Given the description of an element on the screen output the (x, y) to click on. 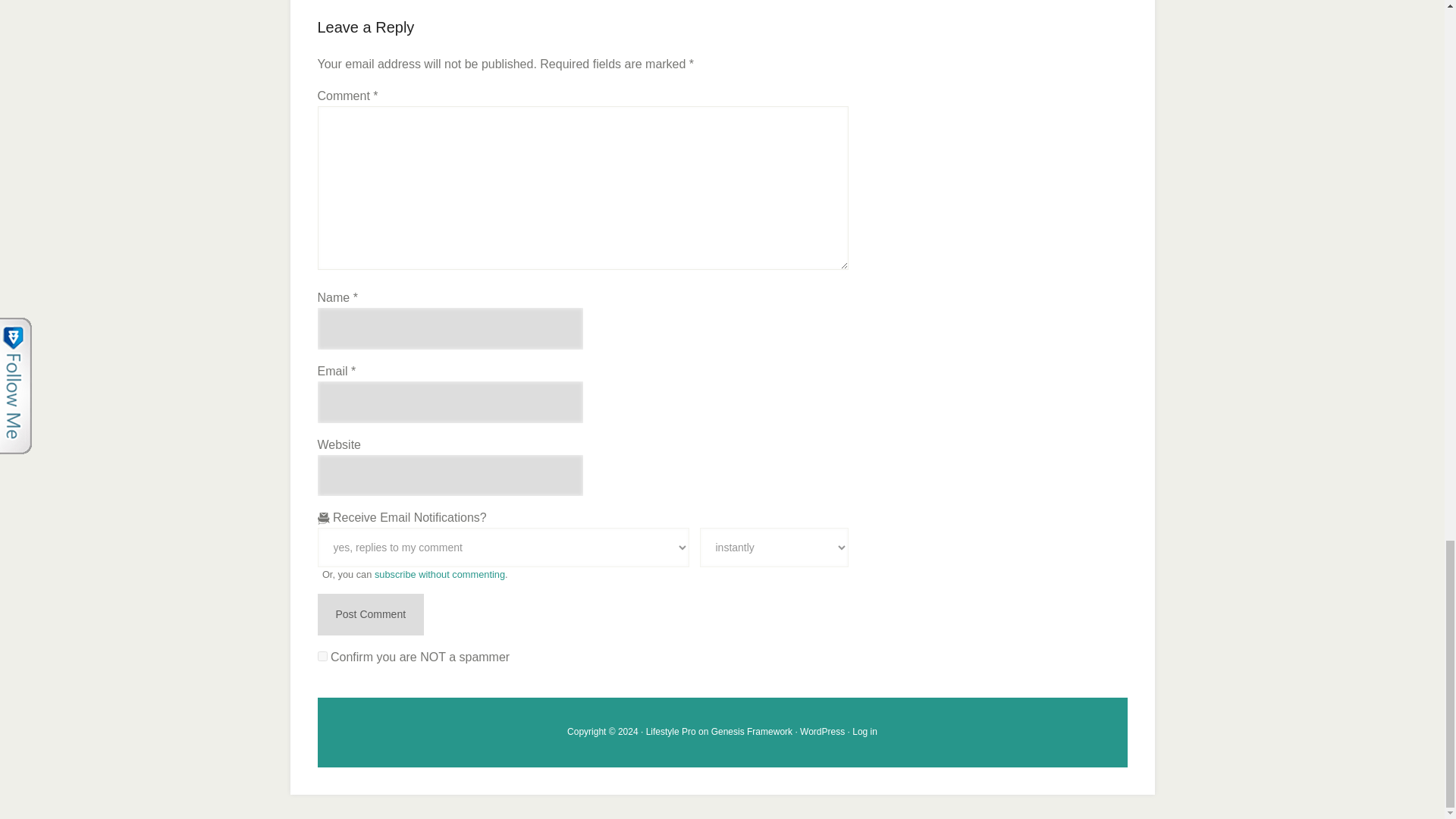
Lifestyle Pro (670, 731)
Log in (864, 731)
on (321, 655)
WordPress (821, 731)
subscribe without commenting (439, 573)
Genesis Framework (751, 731)
Post Comment (370, 614)
Receive Notifications? (502, 547)
Notify Me (772, 547)
Post Comment (370, 614)
